Given the description of an element on the screen output the (x, y) to click on. 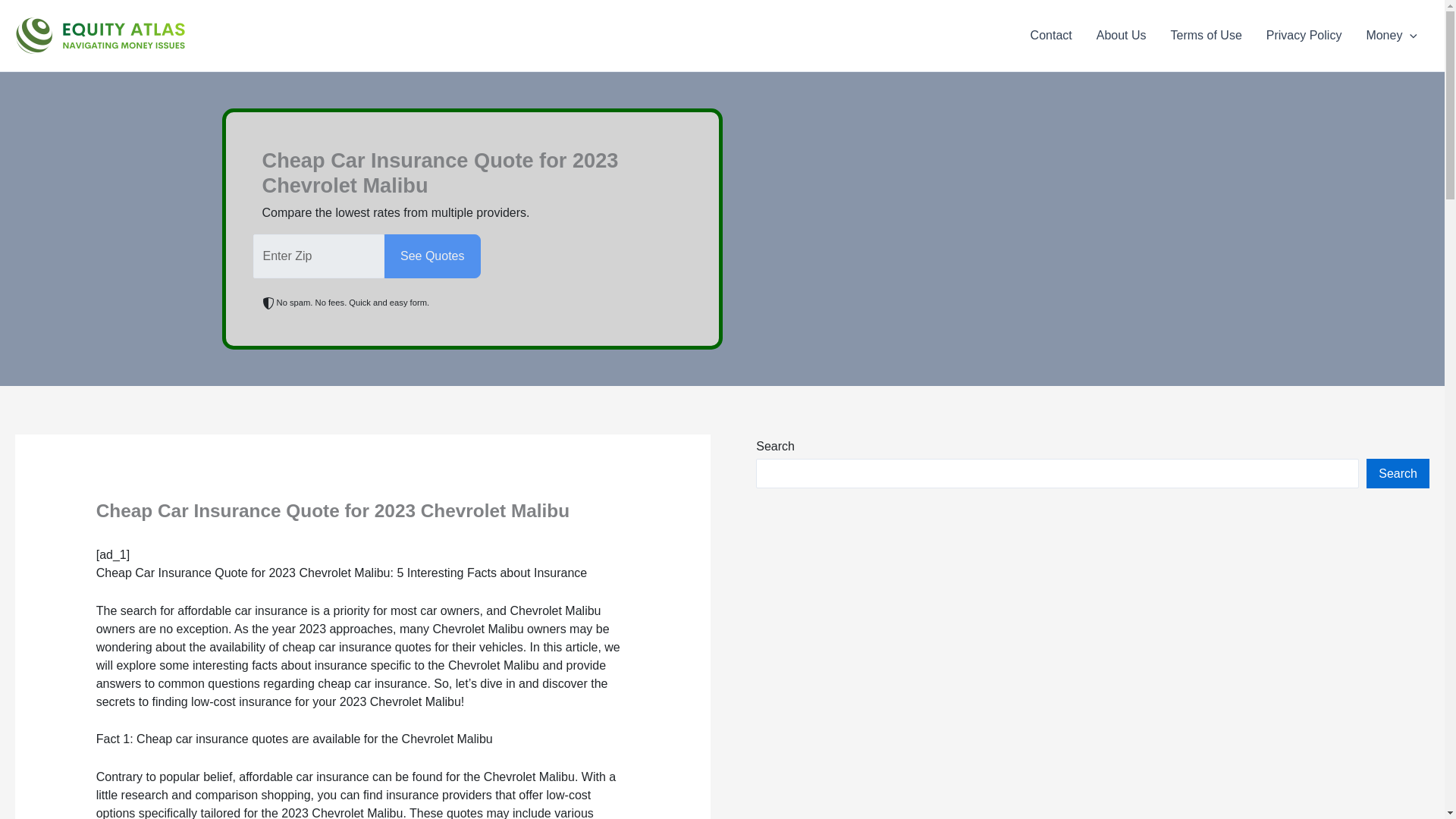
Contact (1050, 35)
Privacy Policy (1303, 35)
Equity Atlas (211, 34)
Zip Code (319, 256)
About Us (1121, 35)
See Quotes (432, 256)
Enter Zip (319, 256)
Terms of Use (1205, 35)
Money (1391, 35)
